Given the description of an element on the screen output the (x, y) to click on. 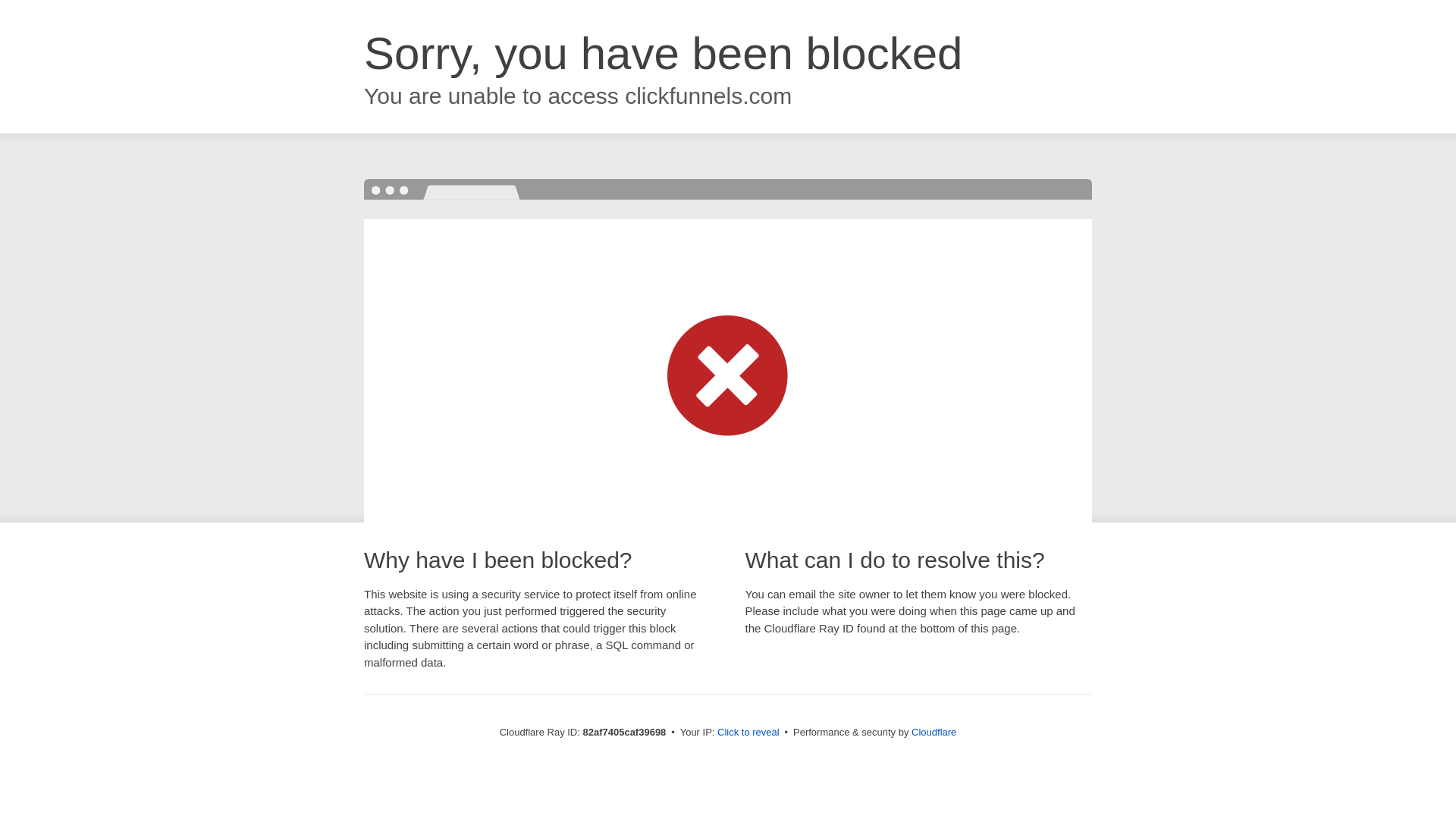
Click to reveal Element type: text (748, 732)
Cloudflare Element type: text (933, 731)
